Given the description of an element on the screen output the (x, y) to click on. 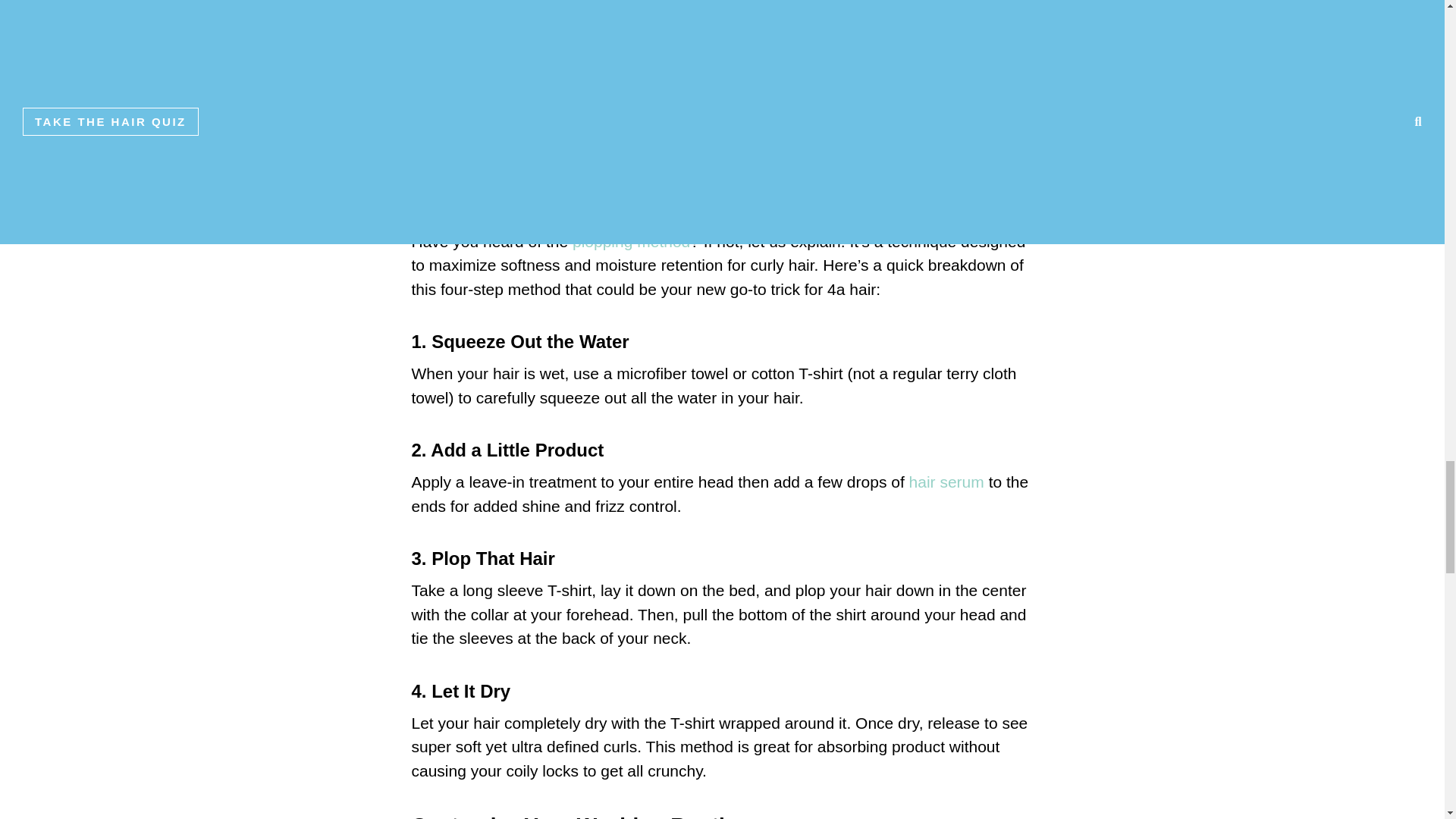
hair serum (946, 481)
leave-in treatment (704, 92)
plopping method (631, 241)
